Given the description of an element on the screen output the (x, y) to click on. 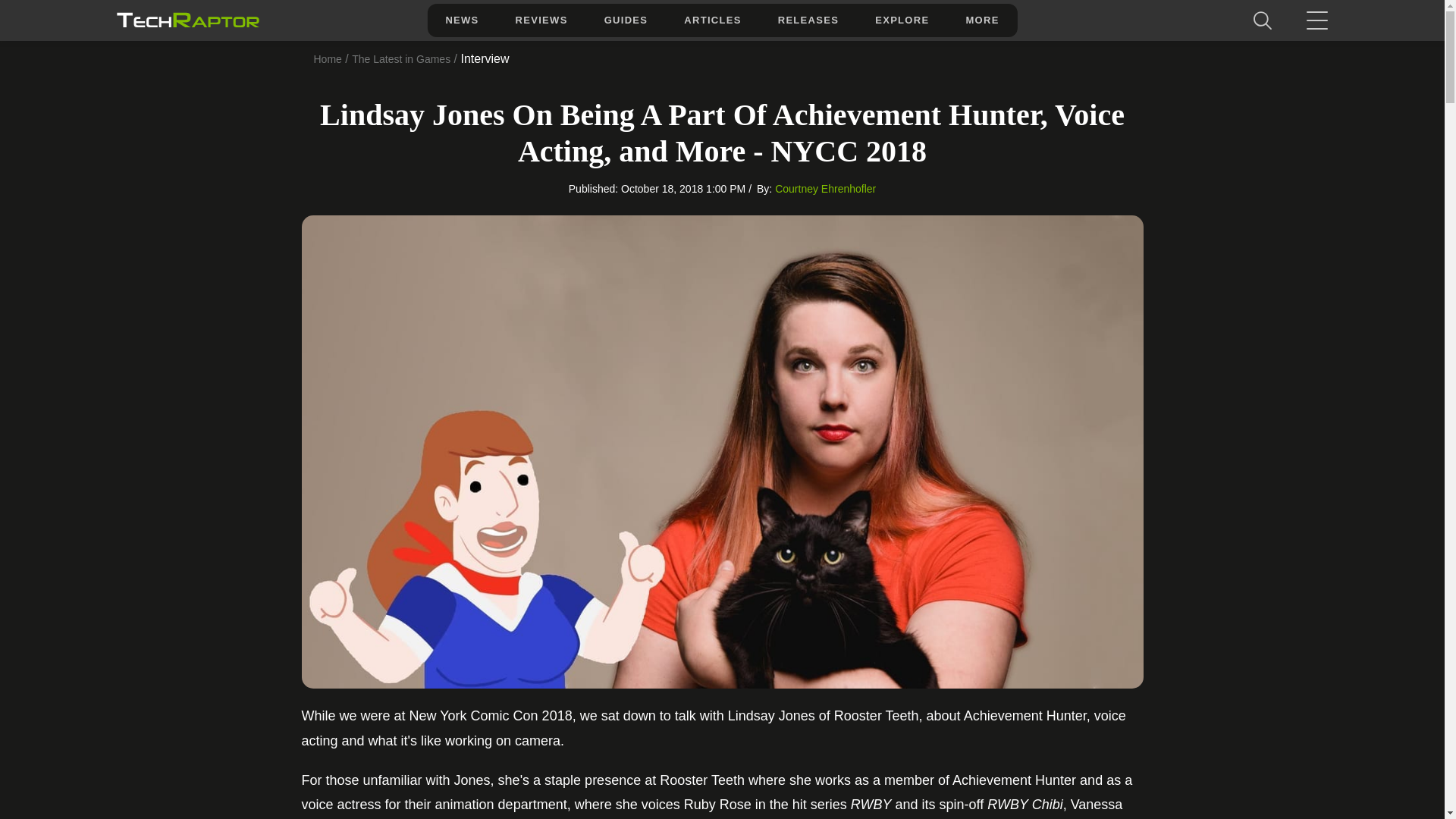
REVIEWS (541, 20)
GUIDES (626, 20)
RELEASES (807, 20)
ARTICLES (711, 20)
TechRaptor Home (187, 20)
NEWS (461, 20)
